Given the description of an element on the screen output the (x, y) to click on. 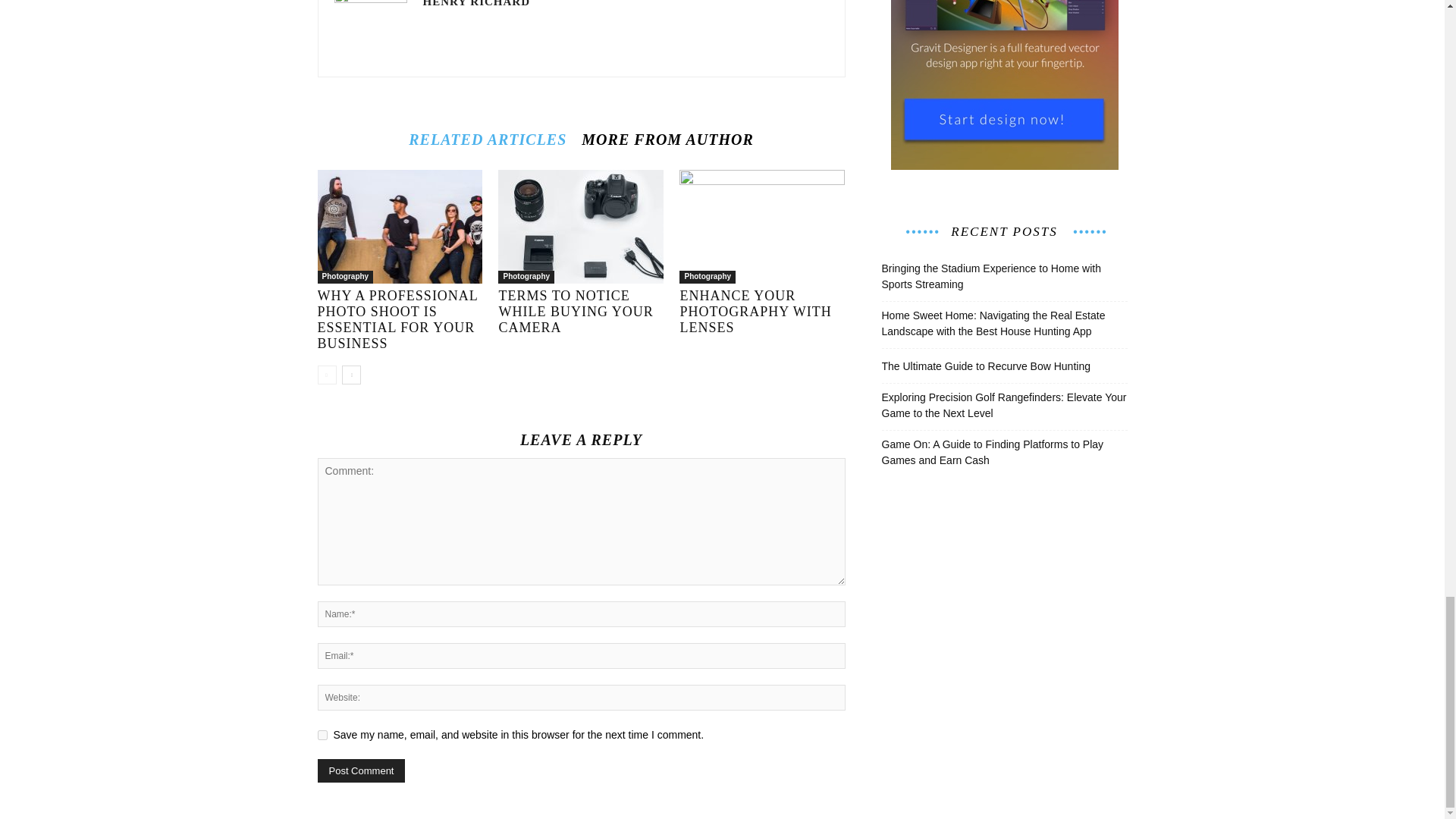
yes (321, 735)
Post Comment (360, 770)
